Given the description of an element on the screen output the (x, y) to click on. 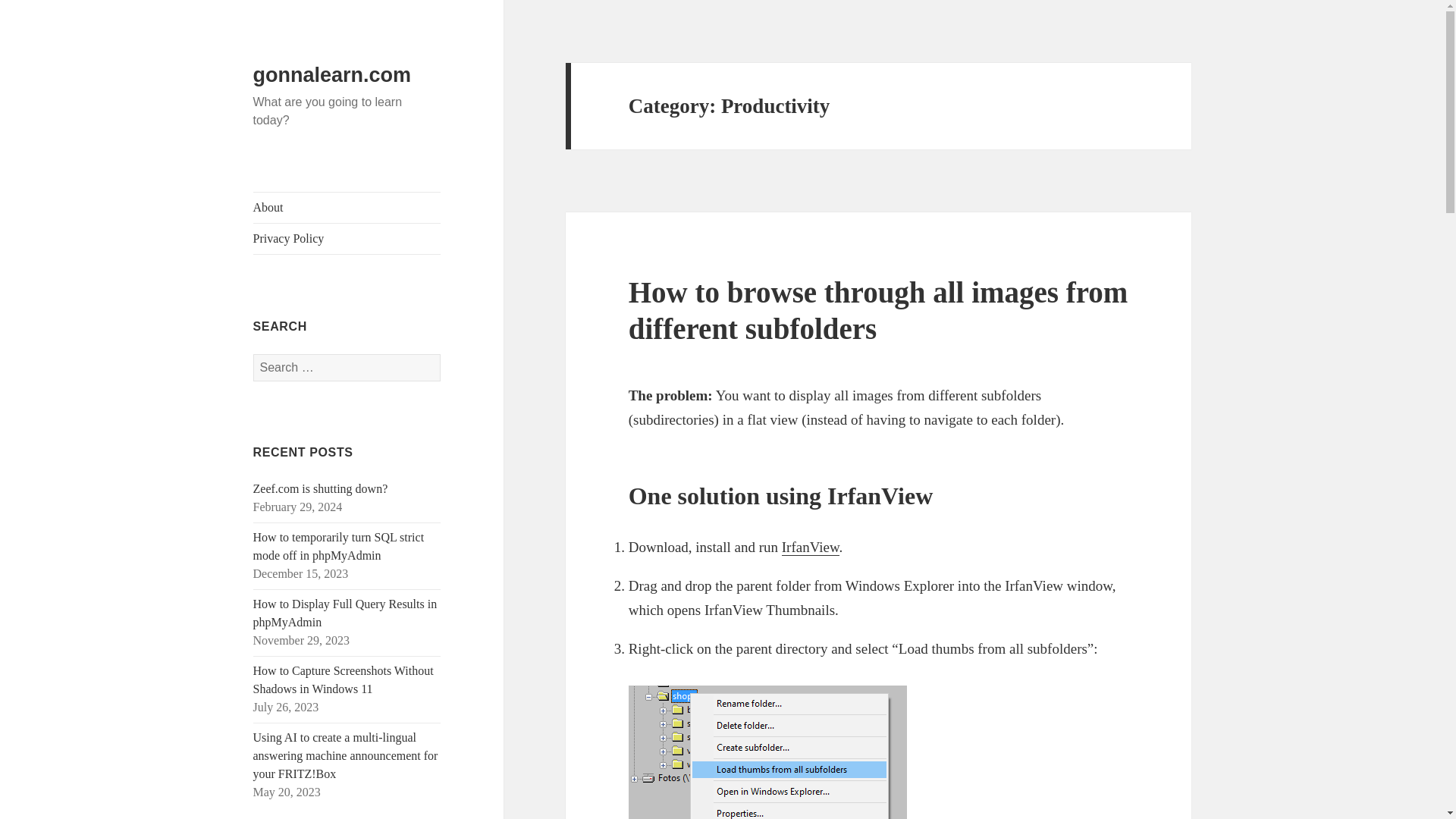
How to browse through all images from different subfolders (878, 310)
How to Capture Screenshots Without Shadows in Windows 11 (343, 679)
gonnalearn.com (332, 74)
Privacy Policy (347, 238)
How to temporarily turn SQL strict mode off in phpMyAdmin (339, 545)
How to Display Full Query Results in phpMyAdmin (345, 612)
About this blog (347, 207)
IrfanView (810, 547)
Zeef.com is shutting down? (320, 488)
About (347, 207)
